Given the description of an element on the screen output the (x, y) to click on. 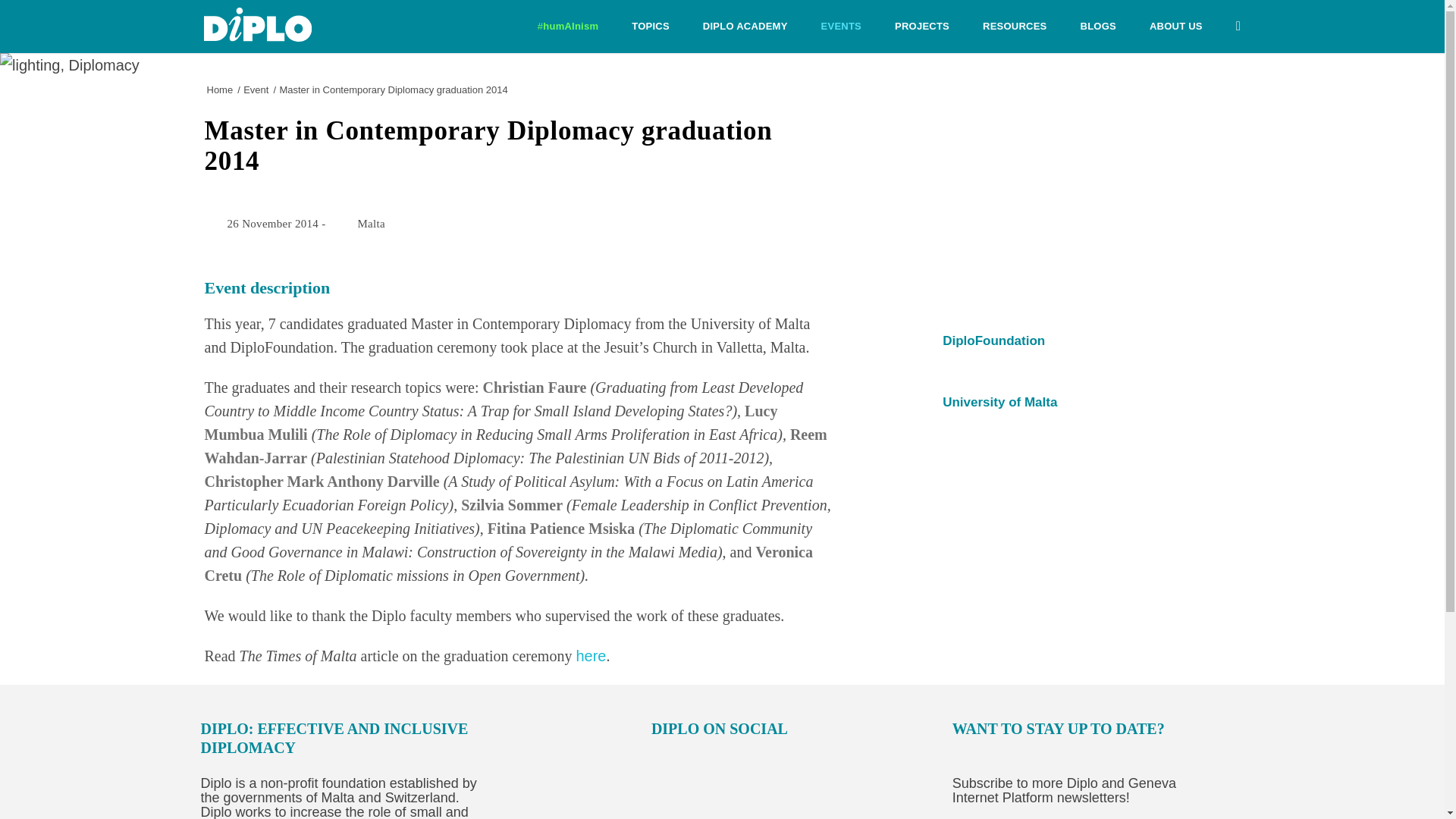
Diplo-logo.svg (257, 24)
Diplo-logo.svg (257, 24)
DIPLO ACADEMY (745, 26)
PROJECTS (922, 26)
